Given the description of an element on the screen output the (x, y) to click on. 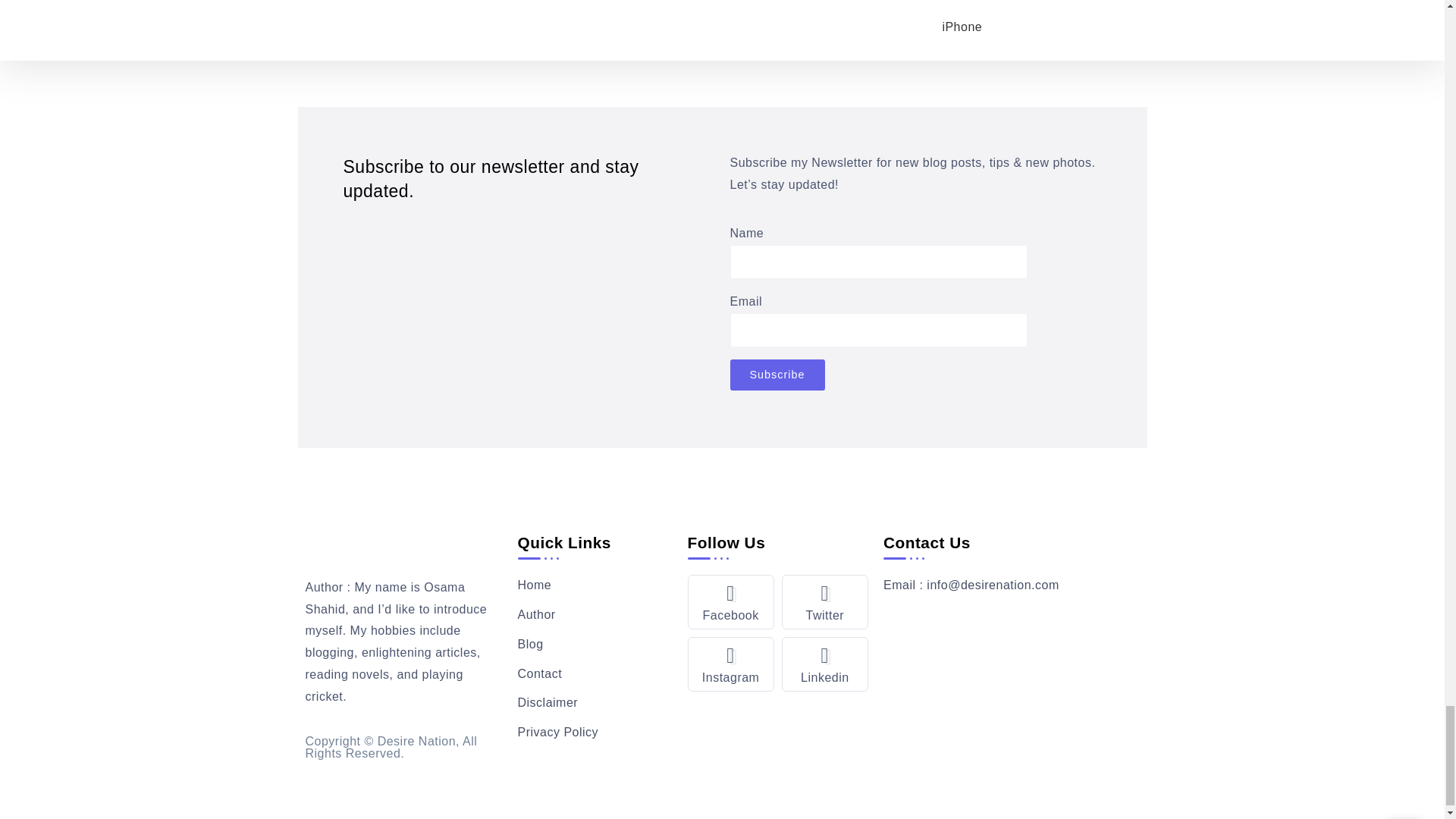
Subscribe (776, 374)
